Given the description of an element on the screen output the (x, y) to click on. 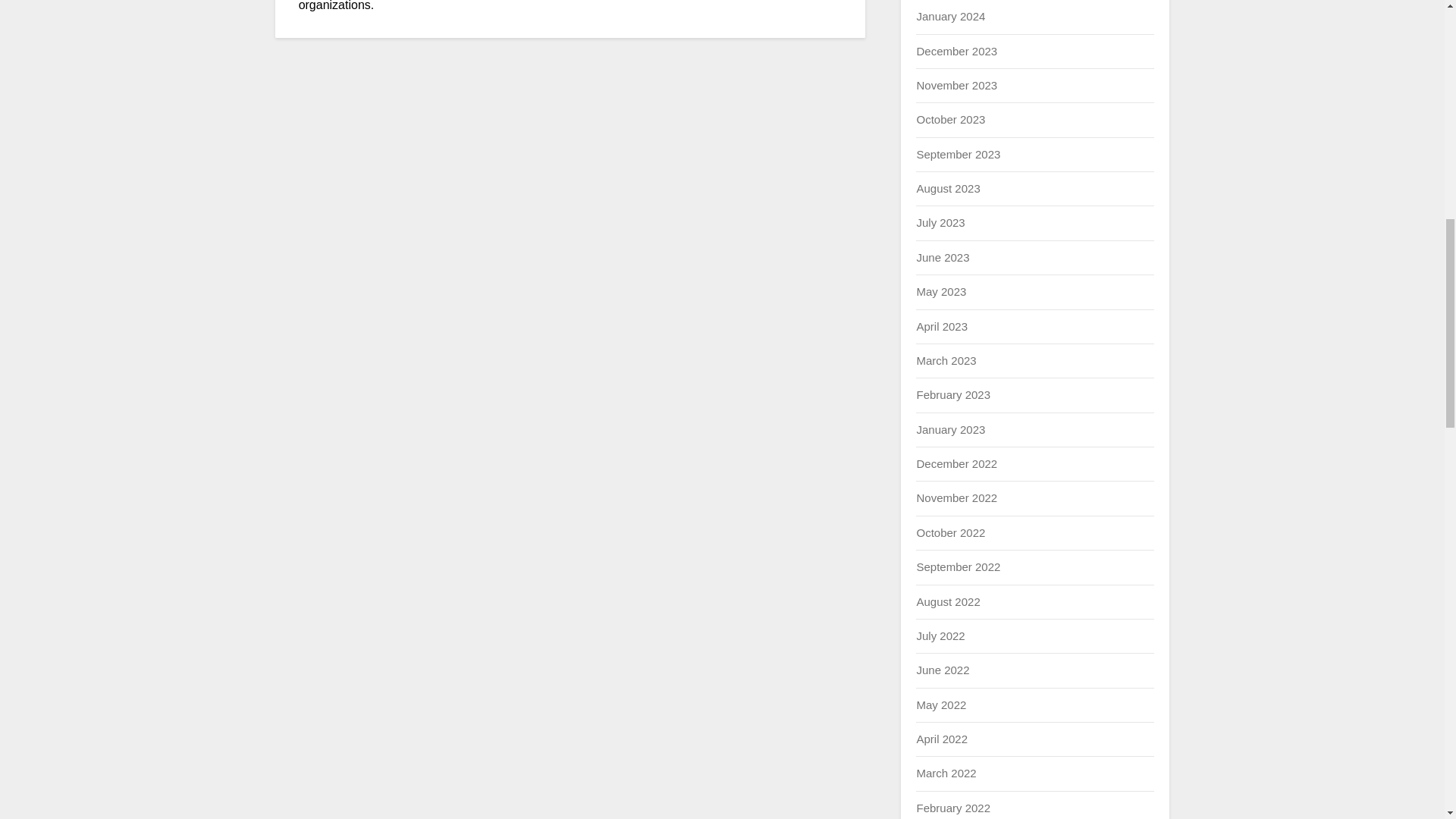
August 2023 (947, 187)
August 2022 (947, 600)
December 2023 (956, 50)
November 2022 (956, 497)
December 2022 (956, 463)
March 2023 (945, 359)
January 2024 (950, 15)
July 2023 (939, 222)
October 2022 (950, 532)
June 2023 (942, 256)
September 2022 (957, 566)
January 2023 (950, 429)
November 2023 (956, 84)
February 2023 (952, 394)
September 2023 (957, 154)
